Given the description of an element on the screen output the (x, y) to click on. 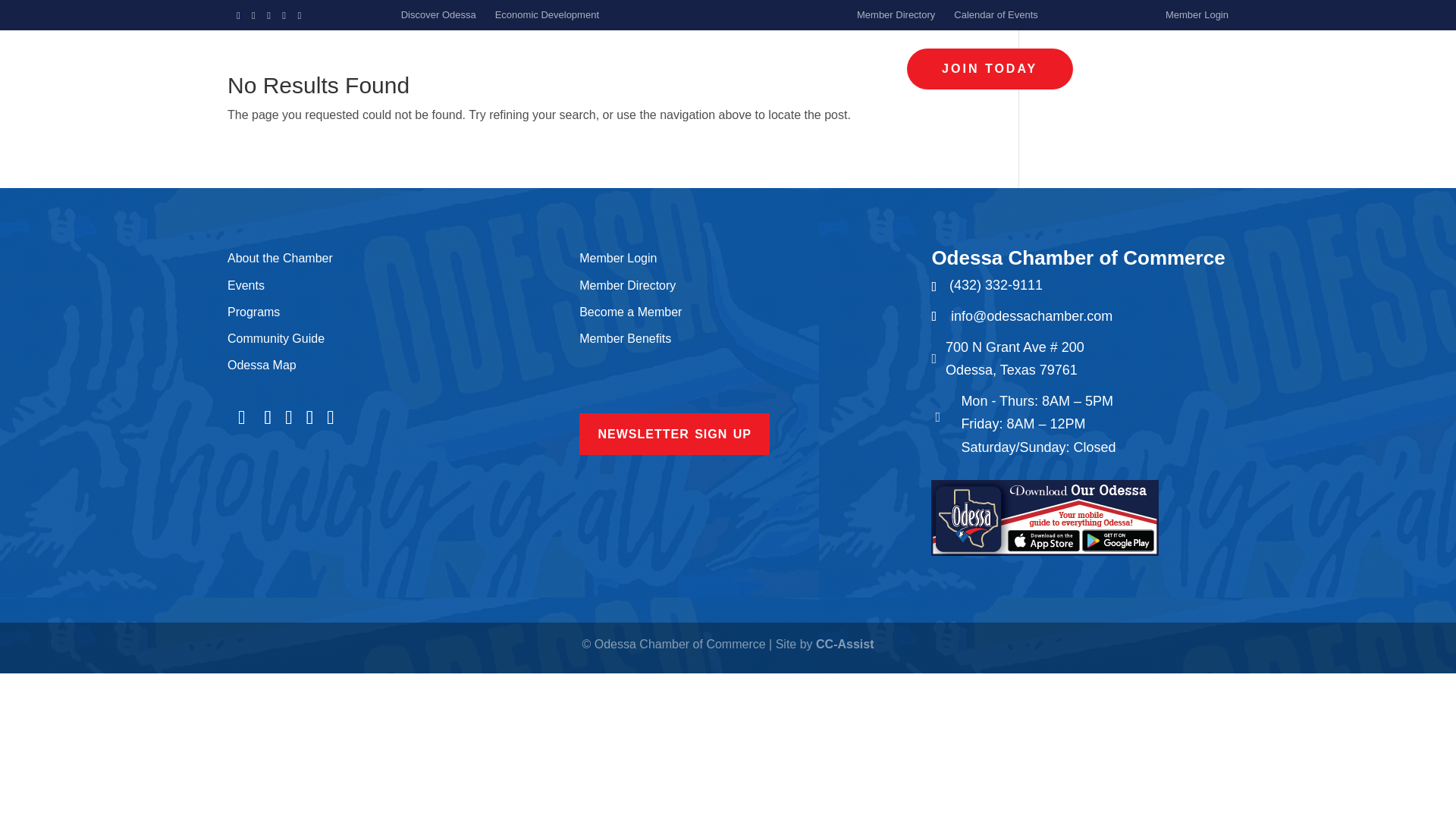
Calendar of Events (995, 14)
CHAMBER (479, 68)
Odessa Map (262, 364)
Community Guide (275, 338)
Discover Odessa (438, 14)
Member Directory (895, 14)
Programs (253, 311)
JOIN TODAY (990, 68)
Events (245, 285)
Member Login (1197, 14)
